Given the description of an element on the screen output the (x, y) to click on. 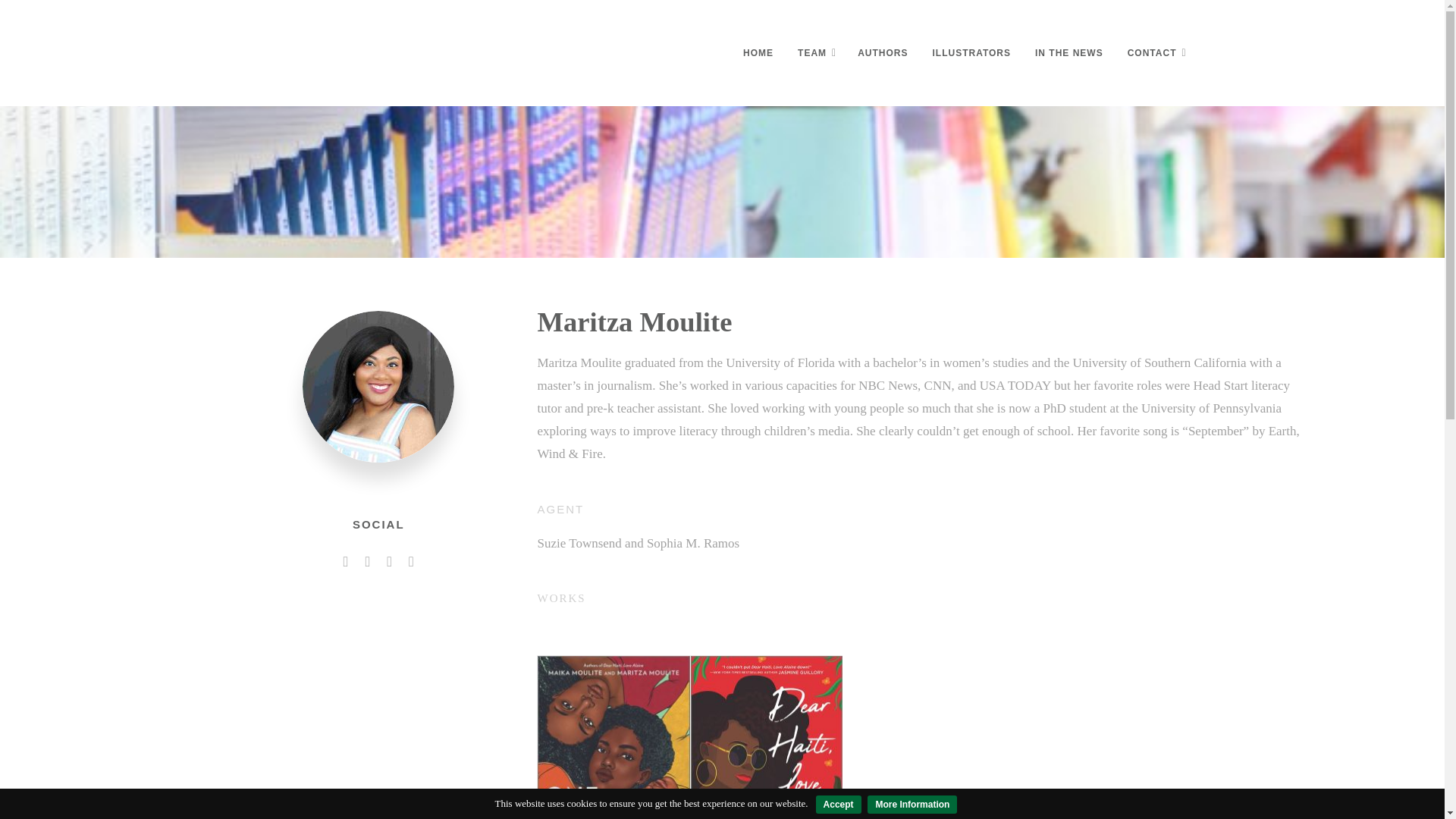
Dear Haiti Love Alaine (766, 737)
